Given the description of an element on the screen output the (x, y) to click on. 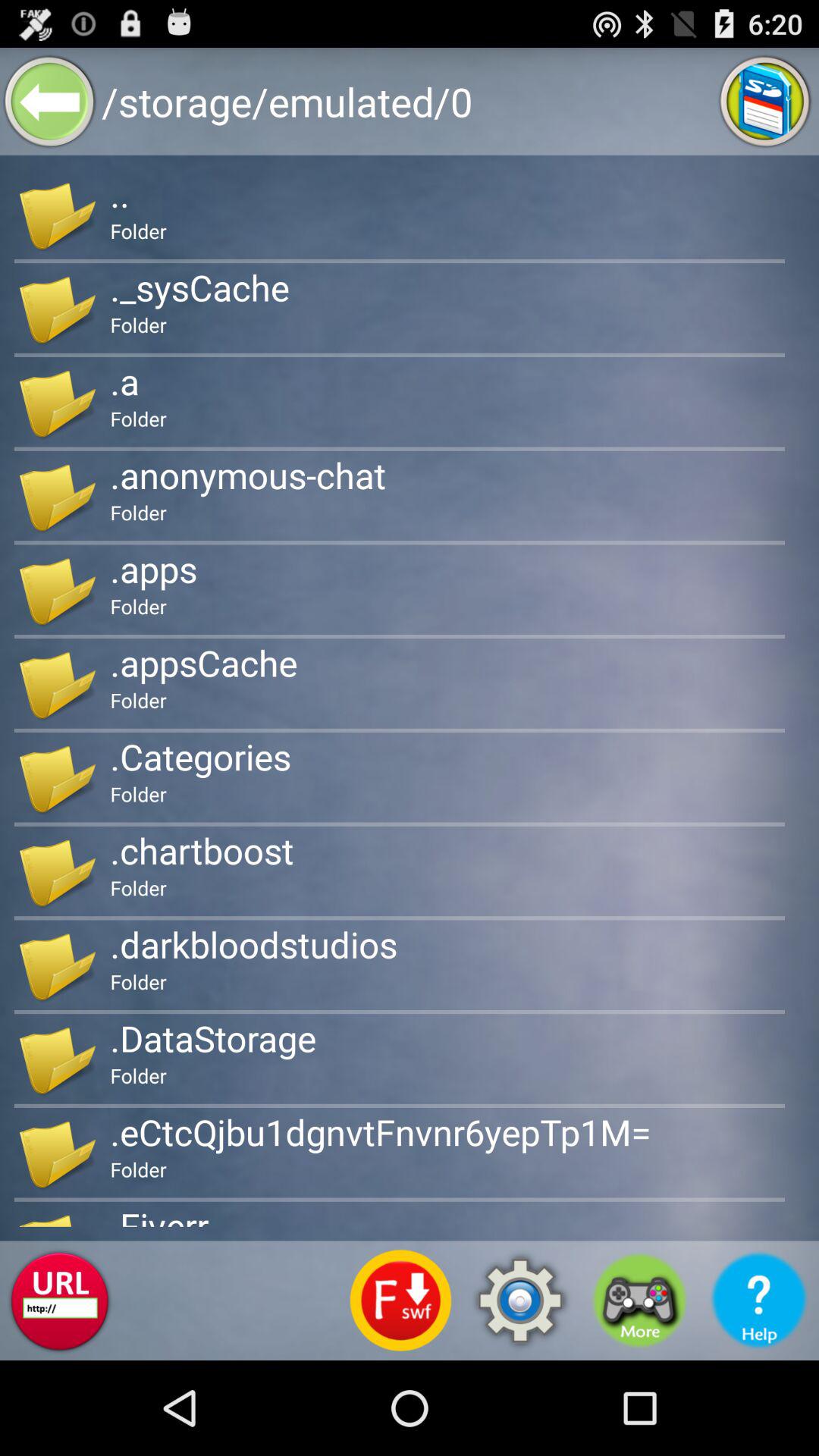
swipe until .apps item (153, 568)
